Given the description of an element on the screen output the (x, y) to click on. 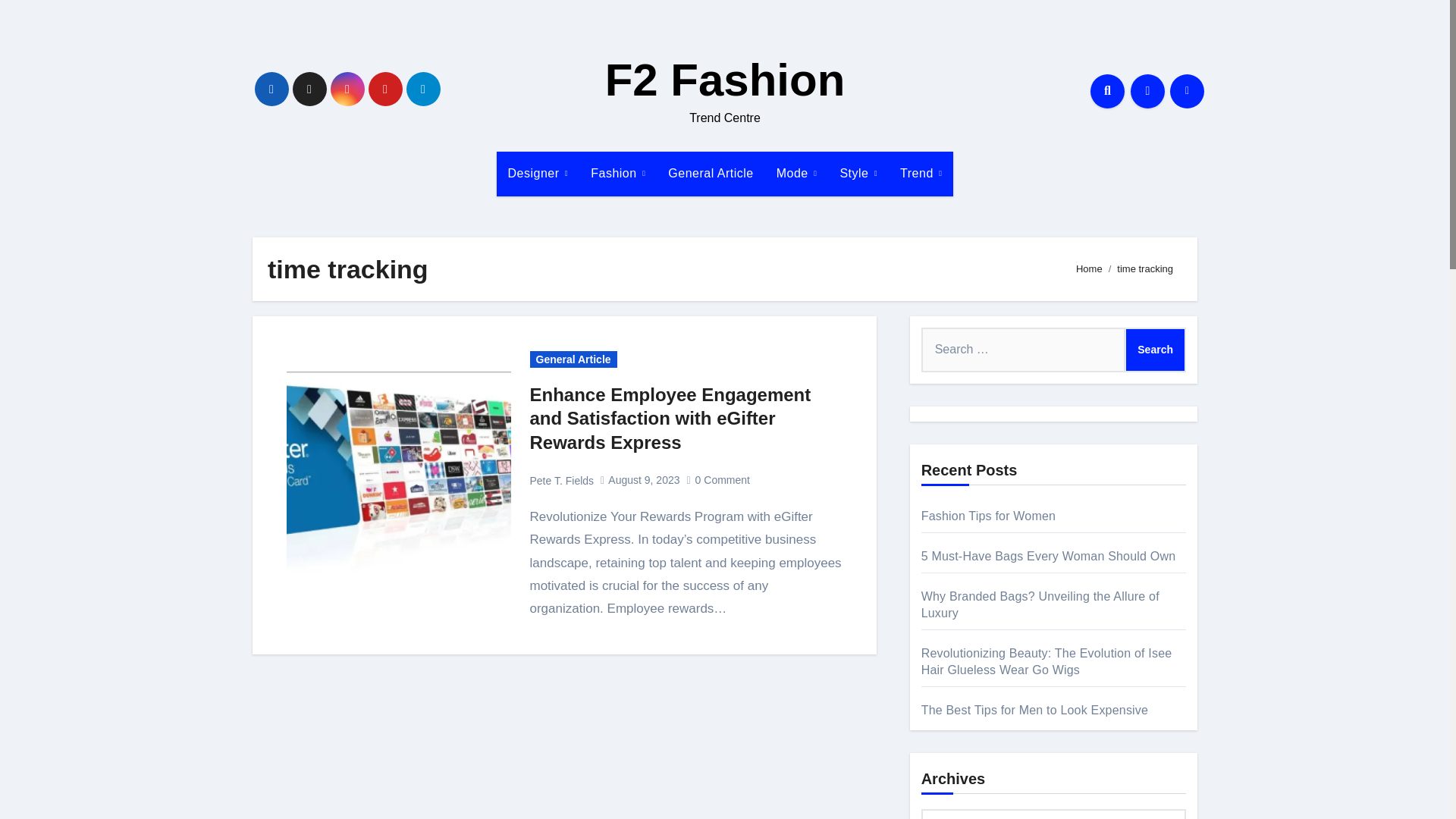
Style (858, 173)
Fashion (617, 173)
Mode (796, 173)
Search (1155, 349)
Mode (796, 173)
Fashion (617, 173)
Designer (537, 173)
General Article (710, 173)
General Article (710, 173)
F2 Fashion (725, 79)
Trend (920, 173)
Search (1155, 349)
Home (1088, 268)
Designer (537, 173)
